Given the description of an element on the screen output the (x, y) to click on. 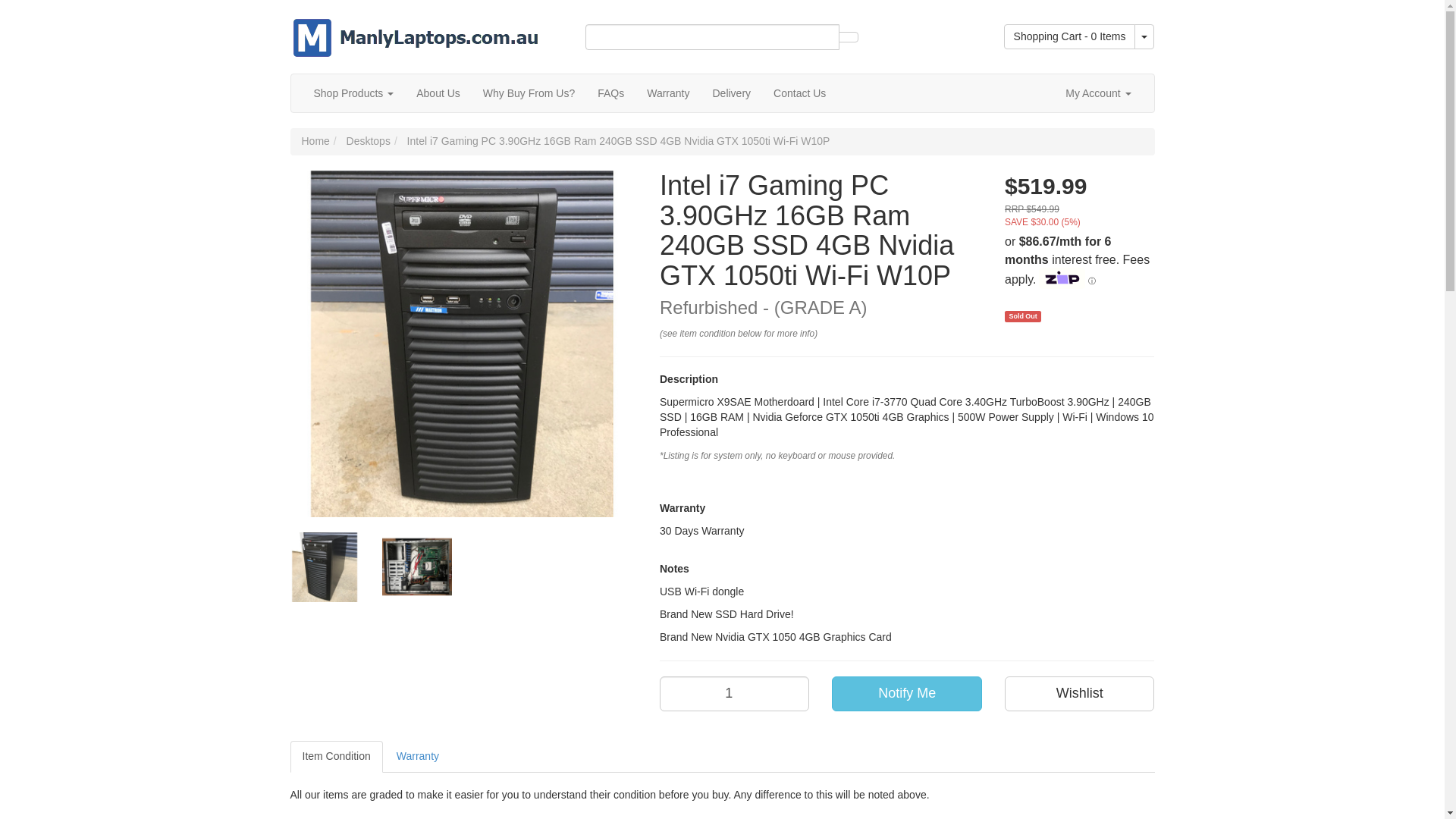
Warranty (667, 93)
Manly Laptops (414, 28)
Contact Us (799, 93)
FAQs (610, 93)
Search (848, 36)
Large View (324, 566)
Why Buy From Us? (528, 93)
About Us (437, 93)
Add To Wishlist (1079, 693)
1 (734, 693)
Delivery (730, 93)
Large View (416, 566)
Shop Products (352, 93)
Shopping Cart - 0 Items (1069, 36)
